Given the description of an element on the screen output the (x, y) to click on. 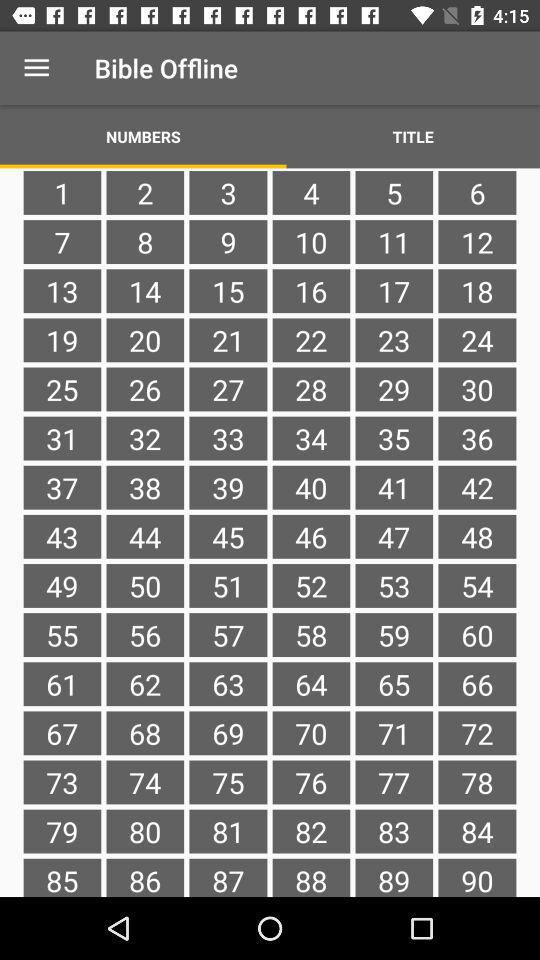
turn on the icon to the right of 5 icon (477, 242)
